Given the description of an element on the screen output the (x, y) to click on. 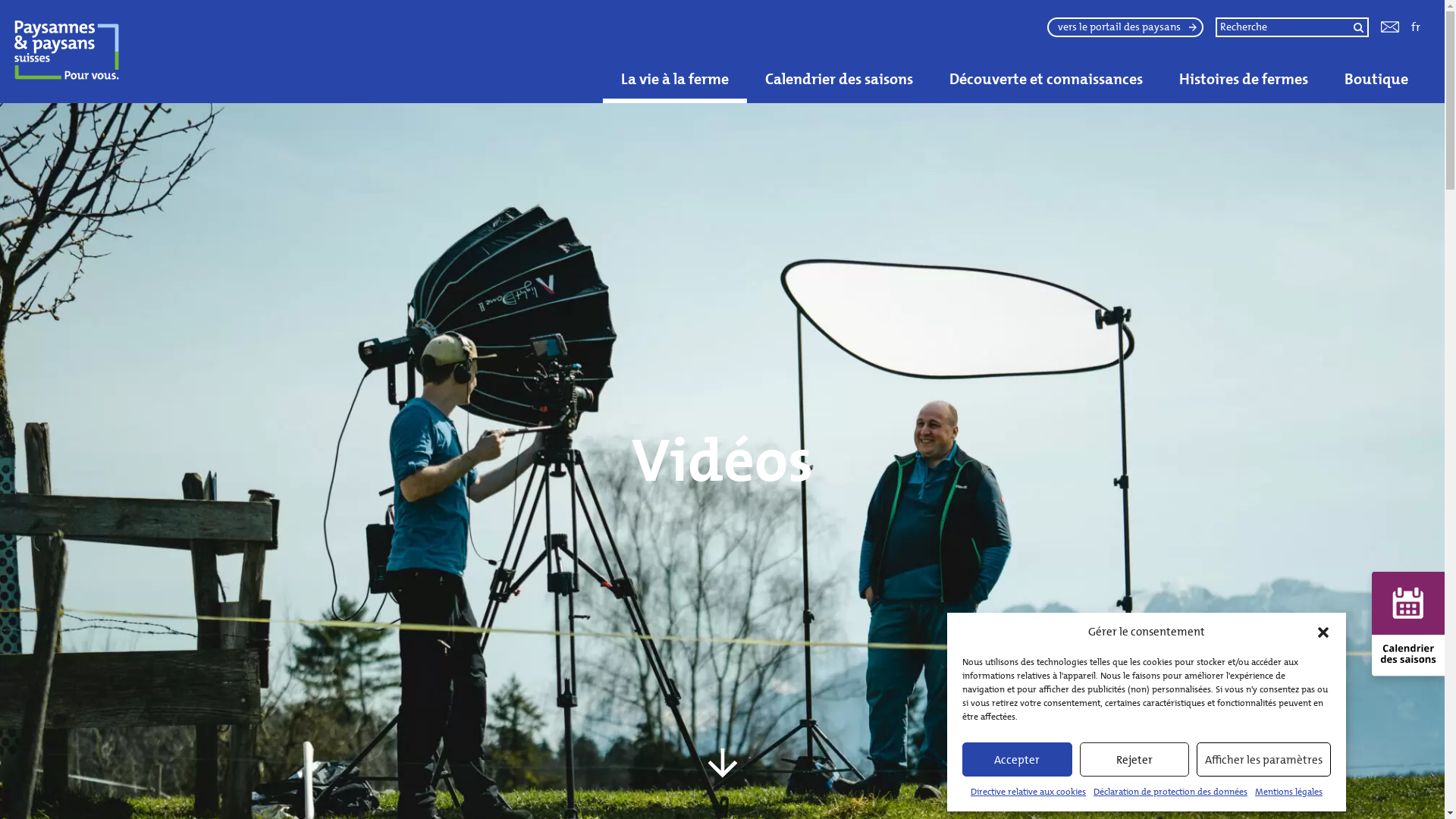
vers le portail des paysans Element type: text (1125, 27)
Calendrier des saisons des herbes Element type: text (712, 48)
Histoires de fermes Element type: text (1243, 78)
Horizon Ferme (Agriviva) Element type: text (425, 35)
Accepter Element type: text (1017, 759)
Calendrier des saisons des fruits Element type: text (489, 48)
Paysannes & paysans suisses Element type: text (124, 51)
Rejeter Element type: text (1134, 759)
Calendrier des saisons Element type: text (838, 78)
Boutique Element type: text (1376, 78)
Recherche de fermes Element type: text (48, 26)
Directive relative aux cookies Element type: text (1027, 792)
Kontakt Element type: text (1389, 27)
